Given the description of an element on the screen output the (x, y) to click on. 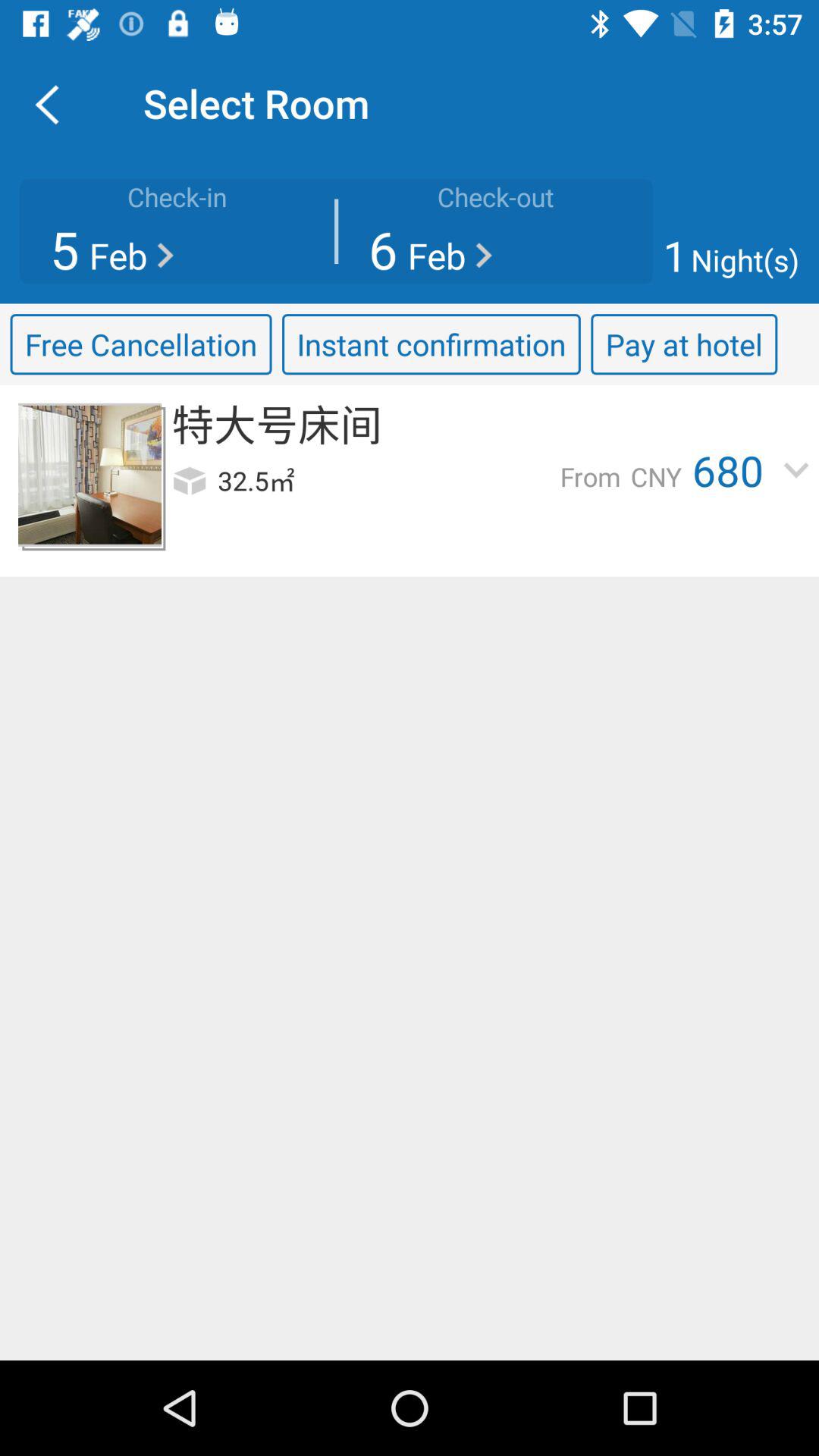
tap icon to the right of free cancellation icon (431, 343)
